Given the description of an element on the screen output the (x, y) to click on. 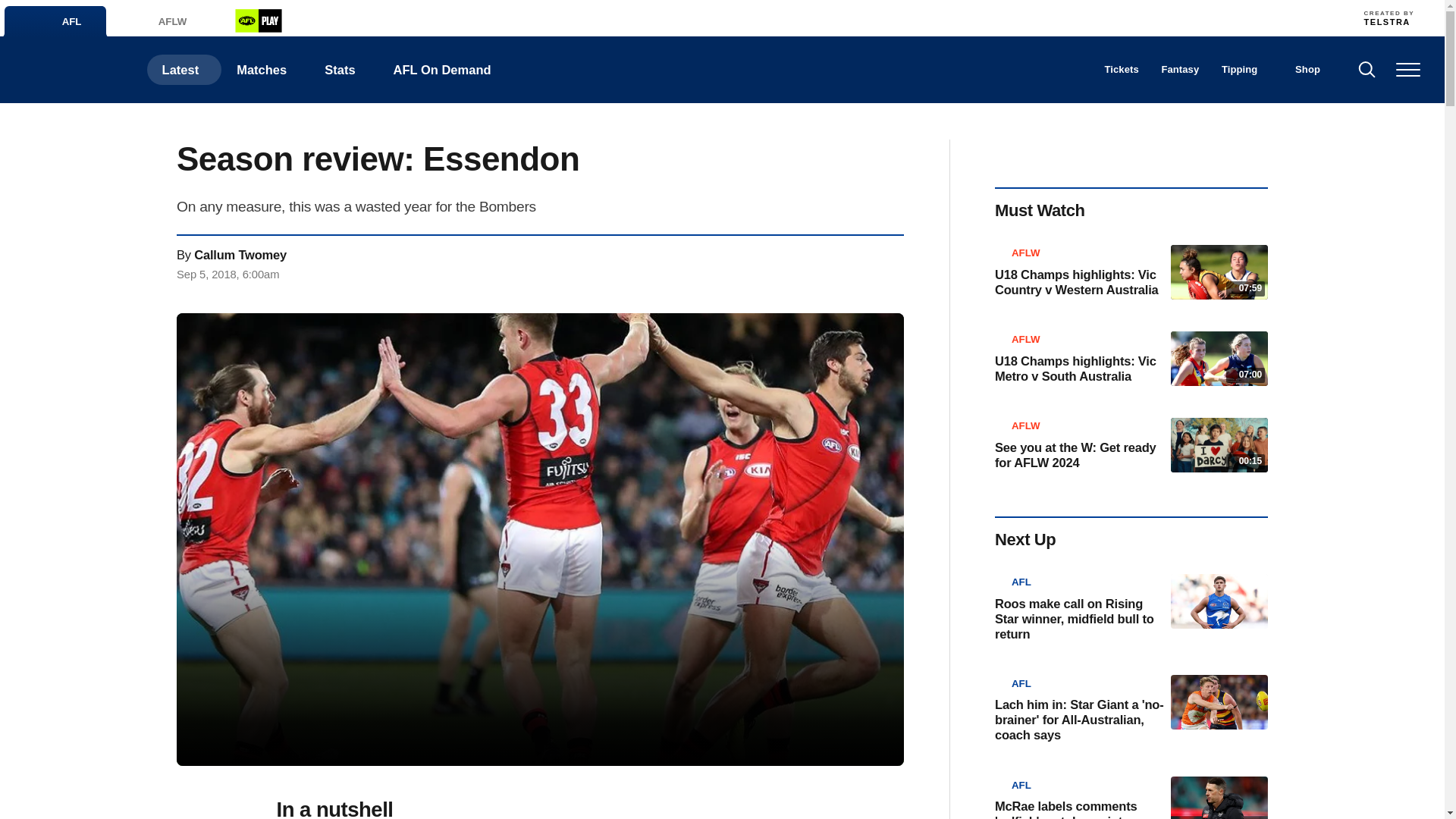
Collingwood (637, 17)
AFLW (155, 21)
Collingwood (637, 17)
St Kilda (1004, 17)
Fremantle (704, 17)
AFL Play (258, 20)
Adelaide Crows (537, 17)
West Coast Eagles (1071, 17)
Brisbane (571, 17)
Western Bulldogs (1104, 17)
